Given the description of an element on the screen output the (x, y) to click on. 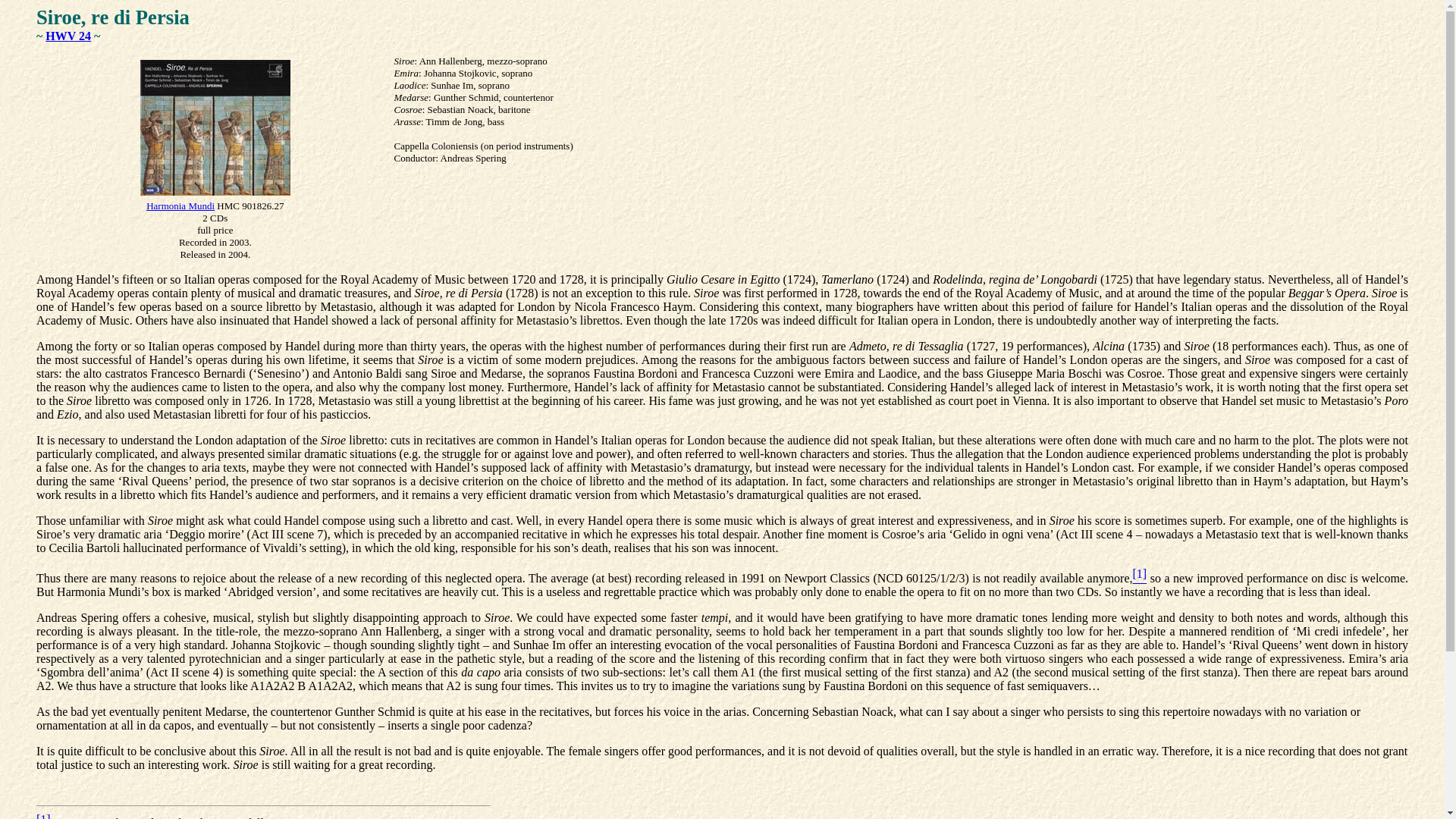
HWV 24 (67, 35)
Harmonia Mundi (180, 205)
